Given the description of an element on the screen output the (x, y) to click on. 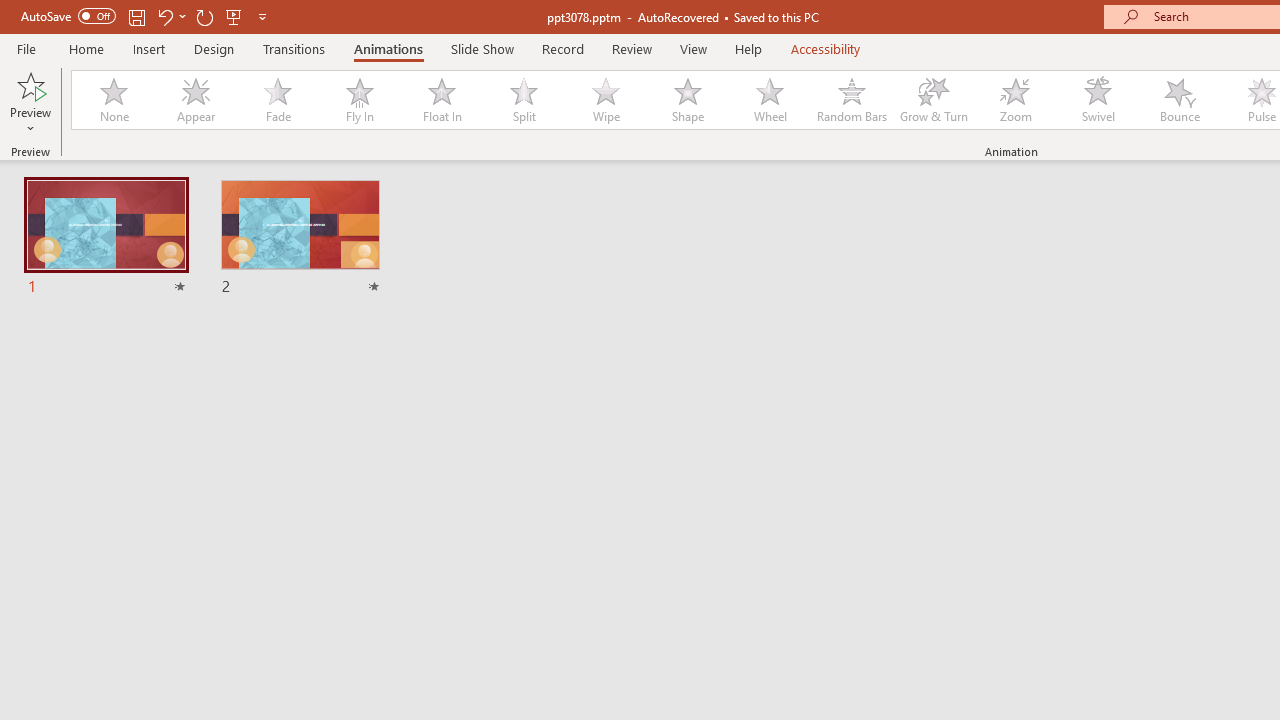
Random Bars (852, 100)
Grow & Turn (934, 100)
Fly In (359, 100)
